Given the description of an element on the screen output the (x, y) to click on. 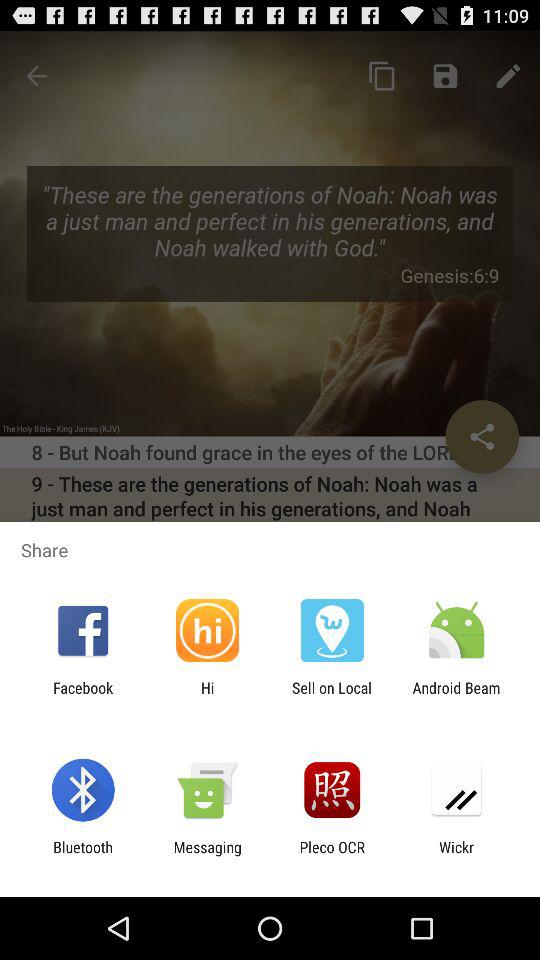
press the app next to the facebook (207, 696)
